Given the description of an element on the screen output the (x, y) to click on. 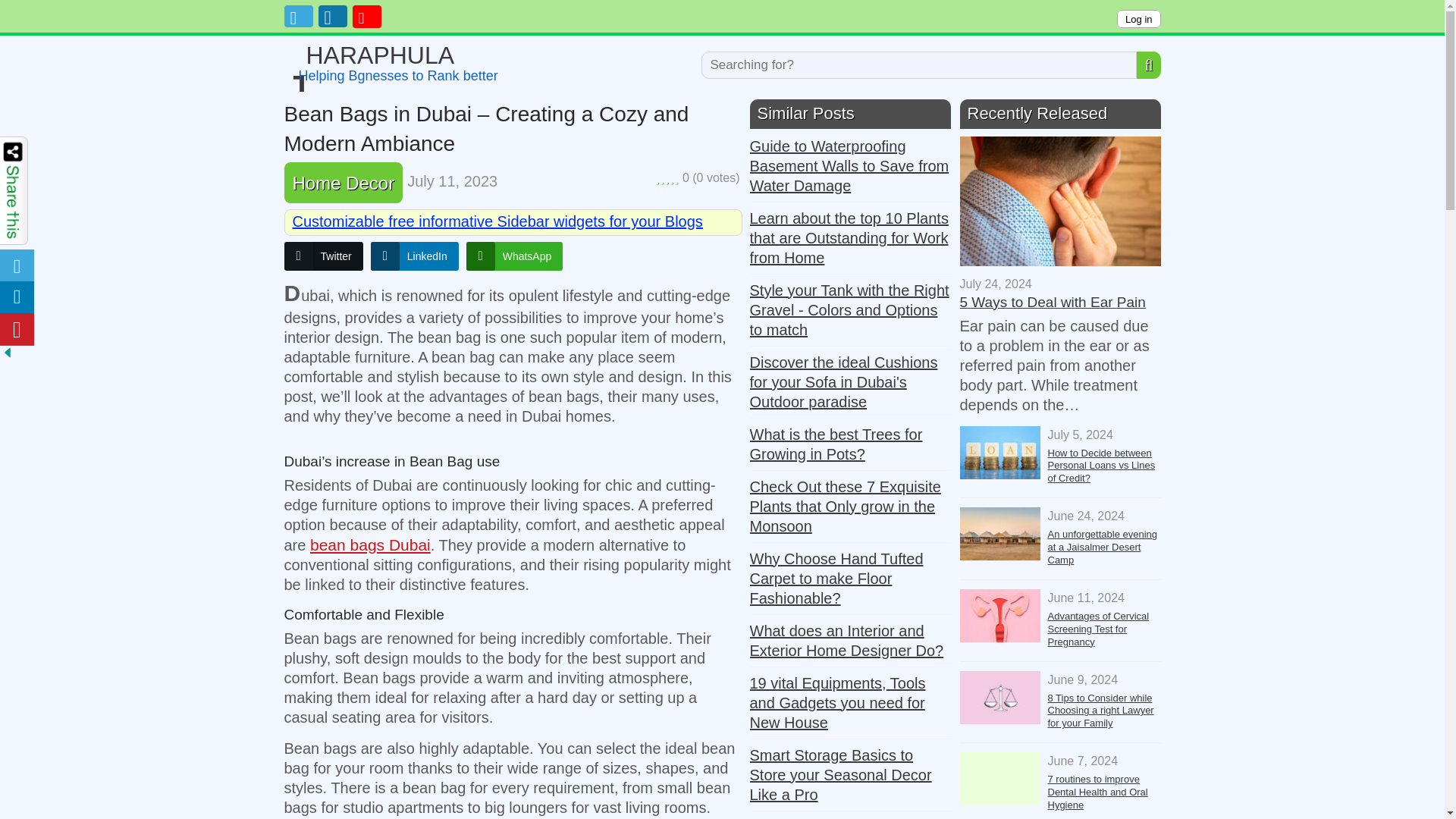
Home Decor (343, 182)
LinkedIn (414, 256)
bean bags Dubai (370, 544)
WhatsApp (514, 256)
Log in (1138, 18)
Twitter (394, 55)
Customizable free informative Sidebar widgets for your Blogs (322, 256)
